Given the description of an element on the screen output the (x, y) to click on. 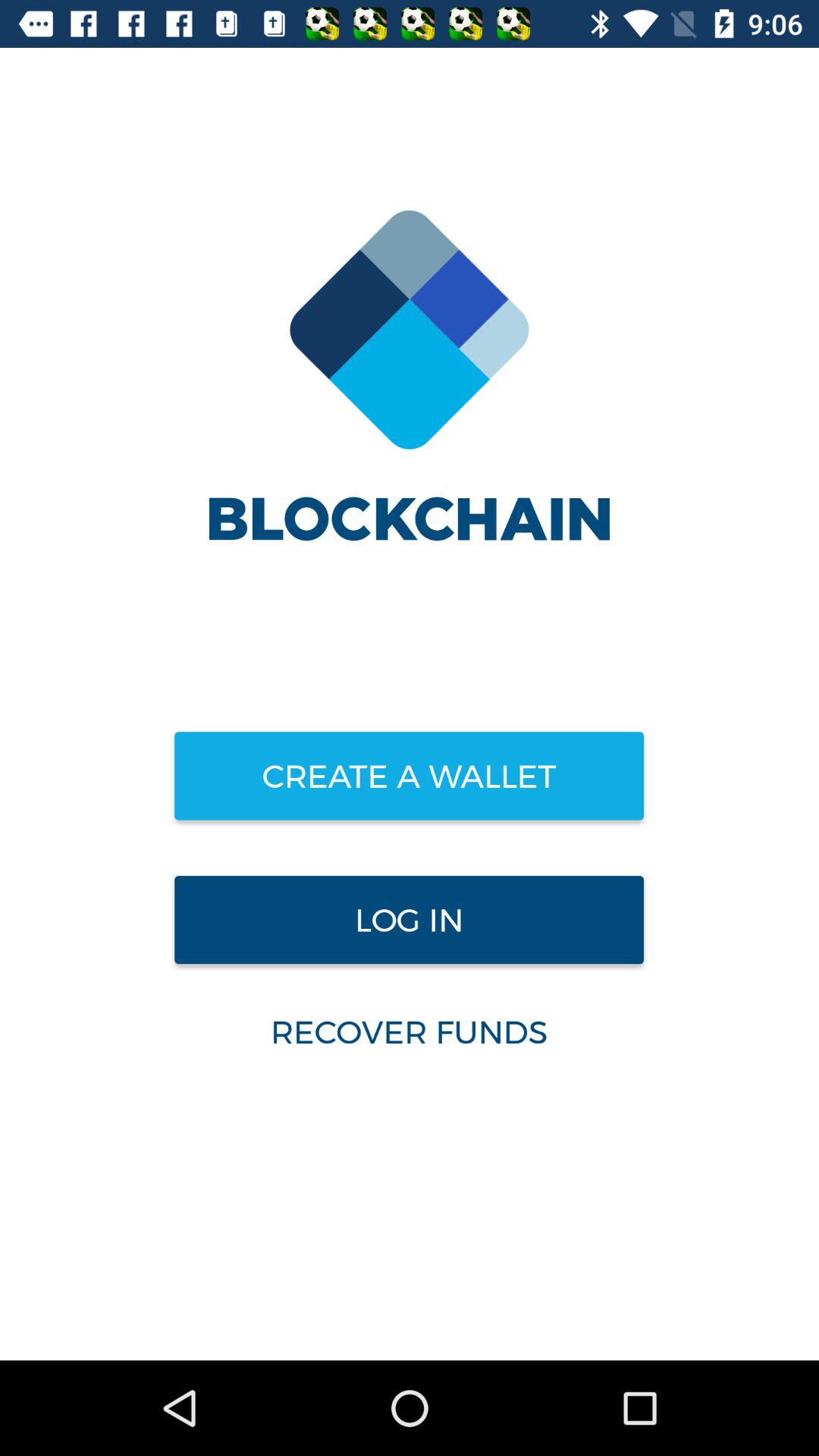
scroll until create a wallet (408, 776)
